Given the description of an element on the screen output the (x, y) to click on. 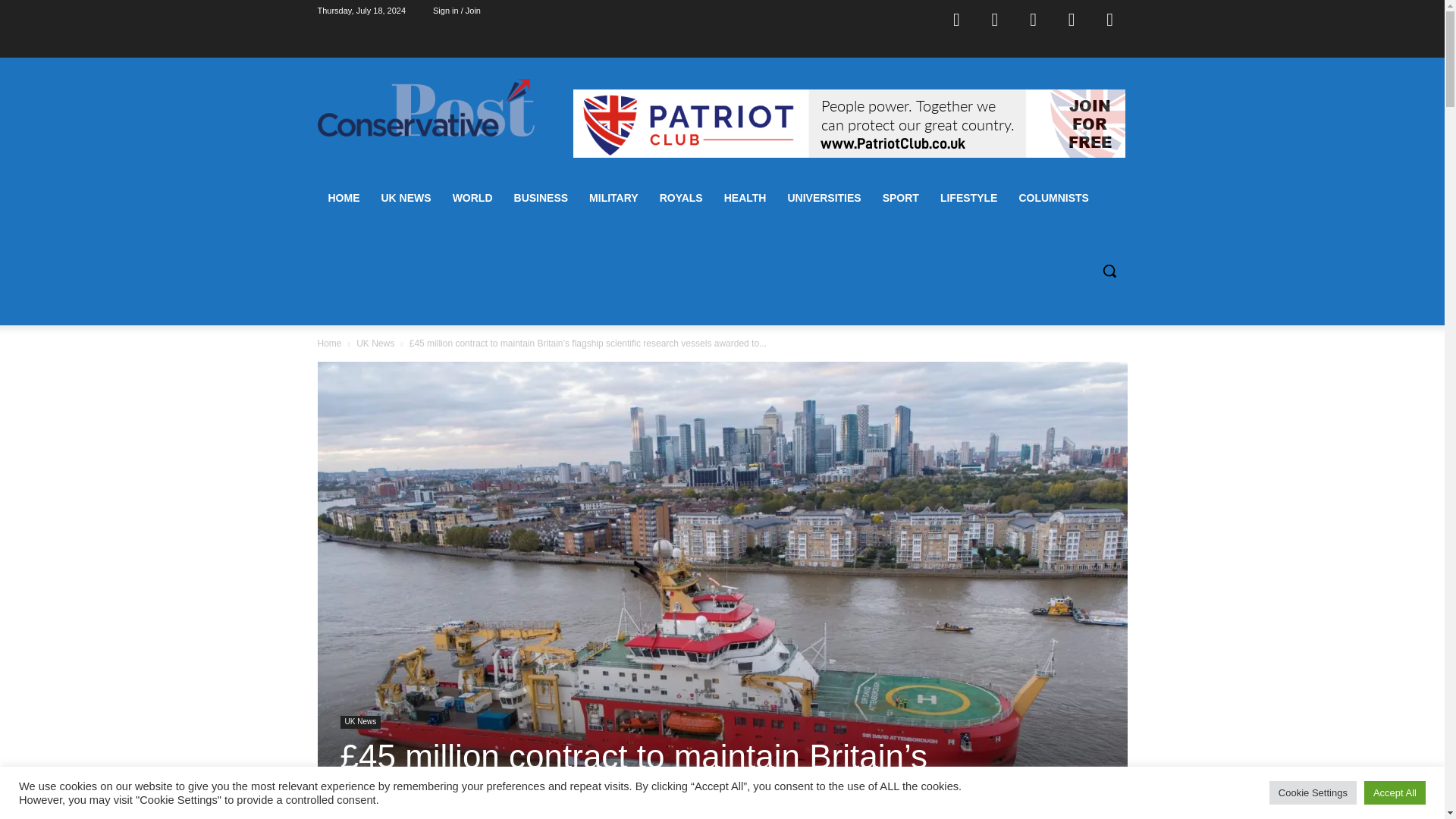
WORLD (472, 197)
HOME (343, 197)
UK News (375, 343)
Youtube (1109, 18)
View all posts in UK News (375, 343)
UNIVERSITIES (823, 197)
Mail (1033, 18)
HEALTH (745, 197)
SPORT (901, 197)
BUSINESS (541, 197)
ROYALS (681, 197)
MILITARY (613, 197)
Facebook (956, 18)
UK News (359, 721)
